Given the description of an element on the screen output the (x, y) to click on. 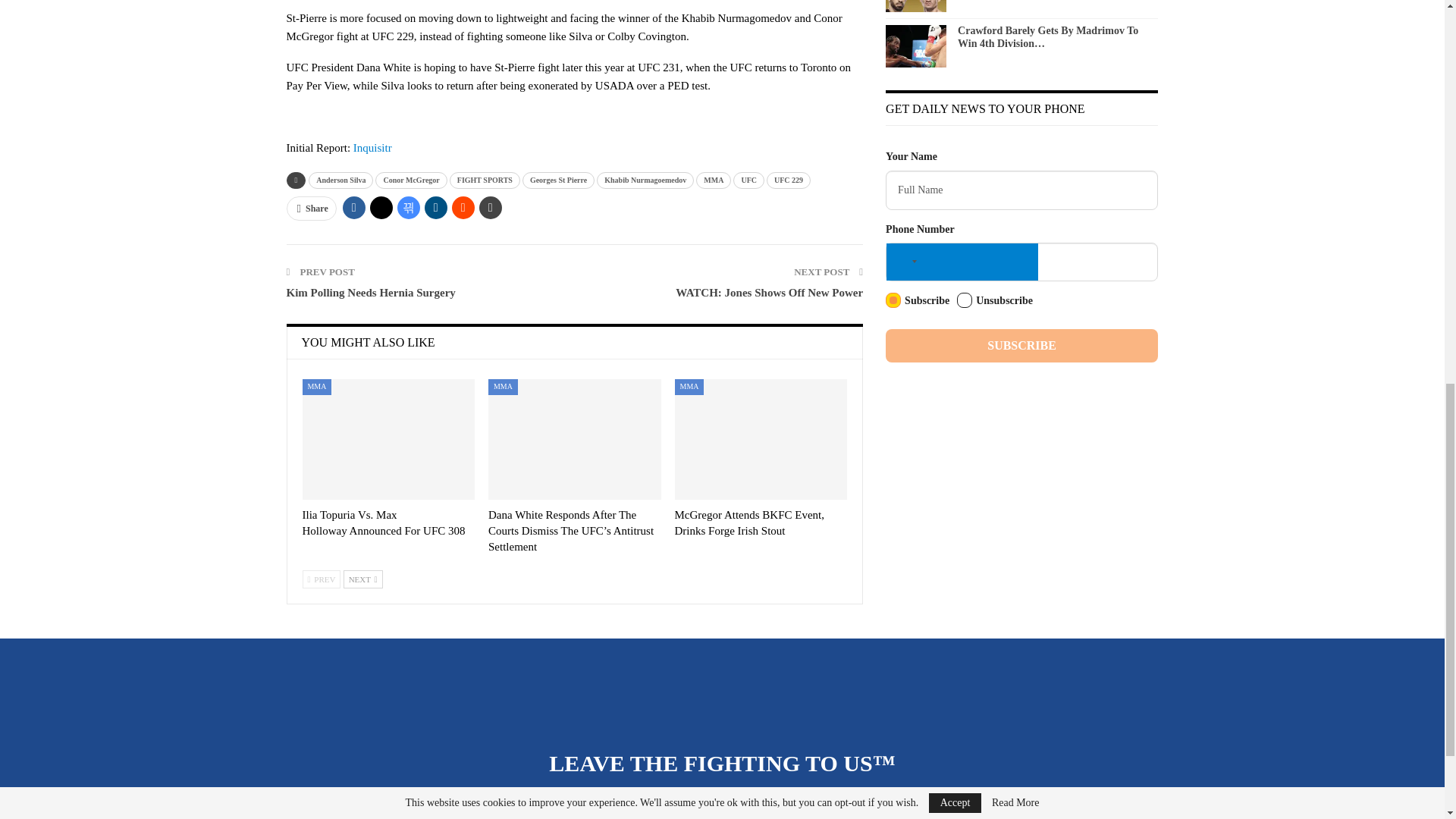
unsubscribe (964, 299)
subscribe (893, 299)
